Given the description of an element on the screen output the (x, y) to click on. 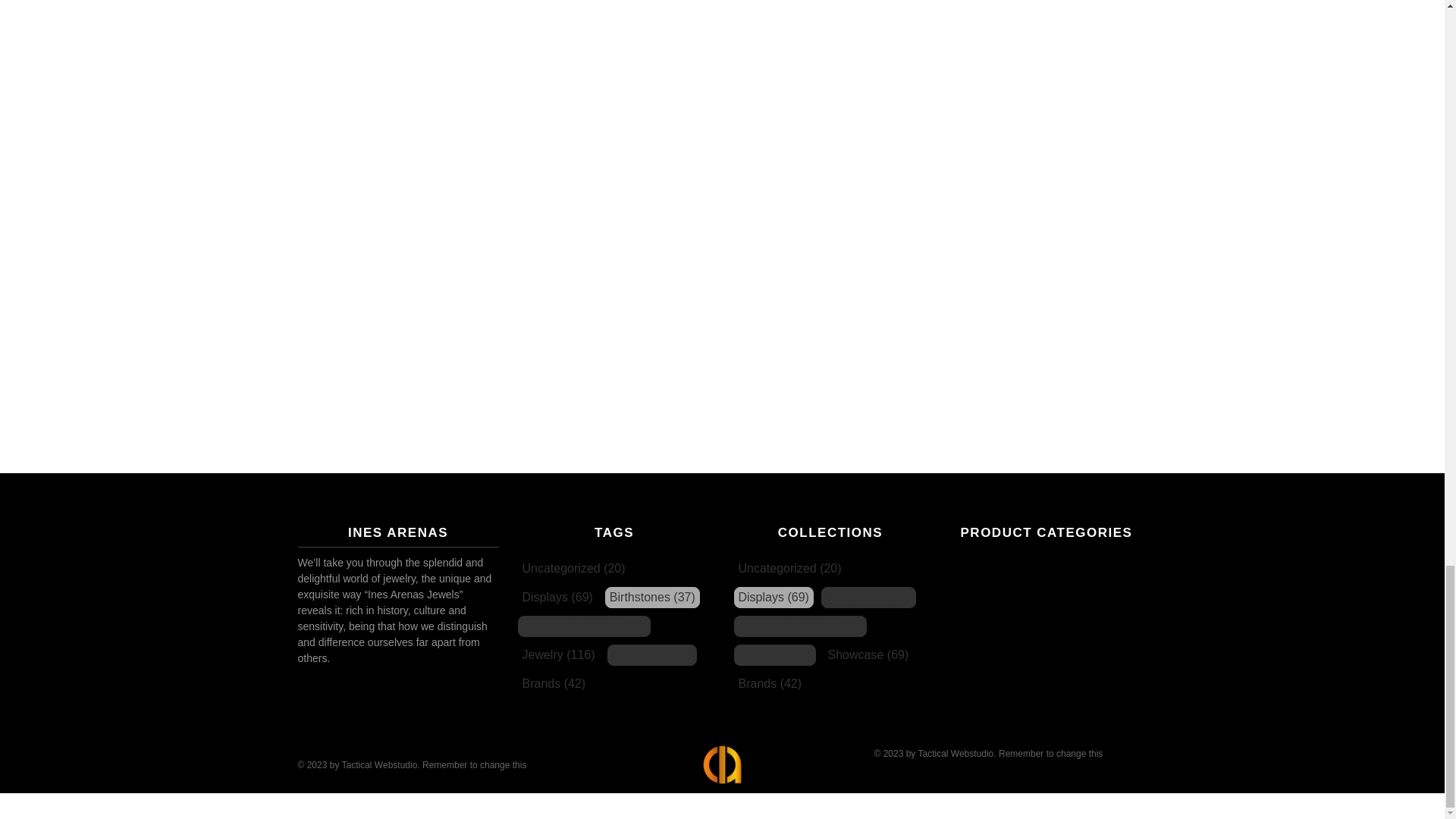
Uncategorized (789, 568)
Brands (553, 684)
Showcase (652, 654)
Displays (556, 597)
Uncategorized (572, 568)
Jewelry (557, 654)
Displays (773, 597)
Jewelry Designers (583, 625)
Birthstones (652, 597)
